Given the description of an element on the screen output the (x, y) to click on. 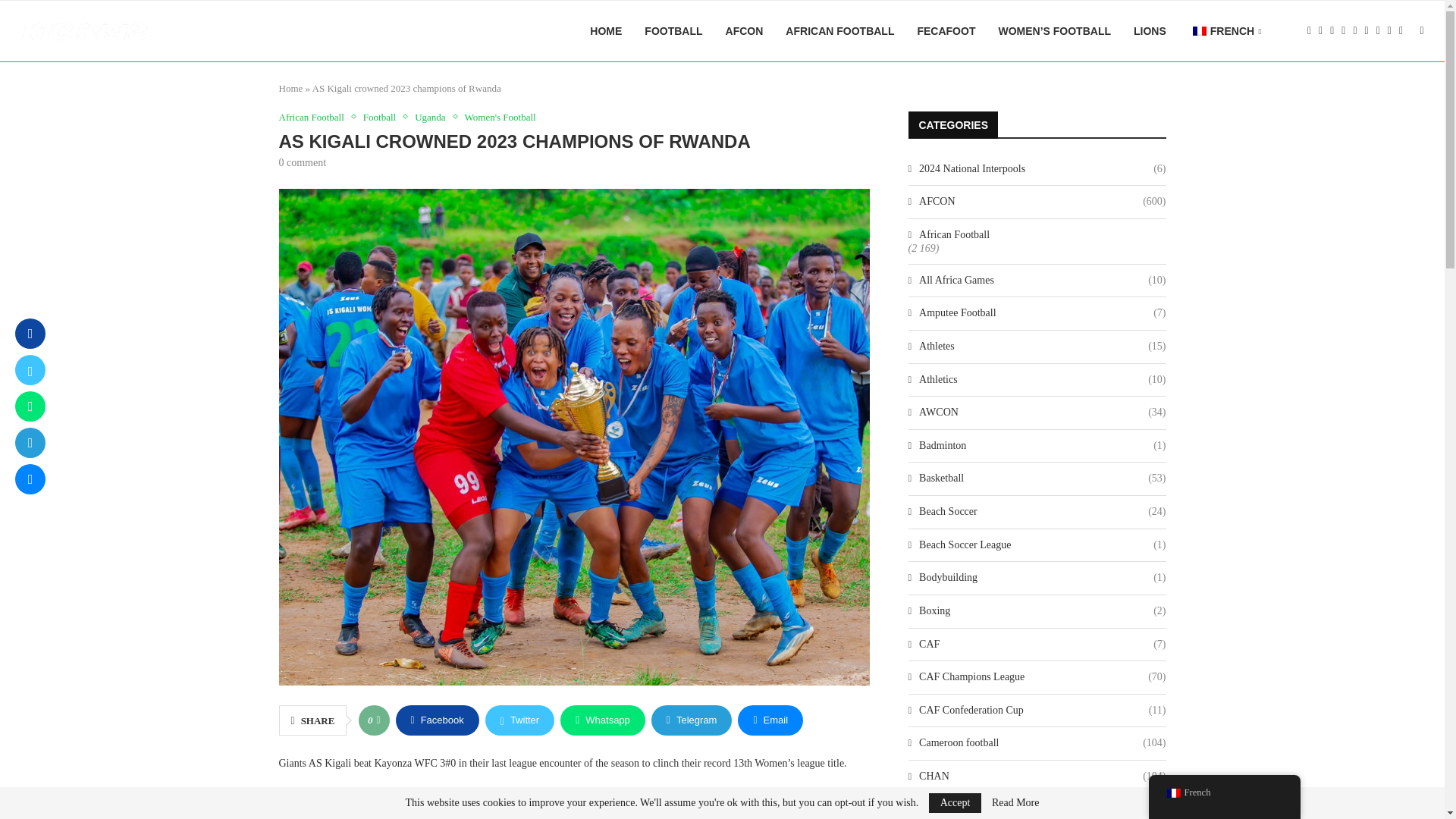
Football (382, 117)
Facebook (437, 720)
AFRICAN FOOTBALL (839, 30)
Twitter (519, 720)
African Football (315, 117)
Email (770, 720)
Uganda (433, 117)
AFCON (743, 30)
French (1199, 31)
Home (290, 88)
FECAFOOT (946, 30)
HOME (605, 30)
Whatsapp (602, 720)
FRENCH (1225, 31)
Like (377, 720)
